Given the description of an element on the screen output the (x, y) to click on. 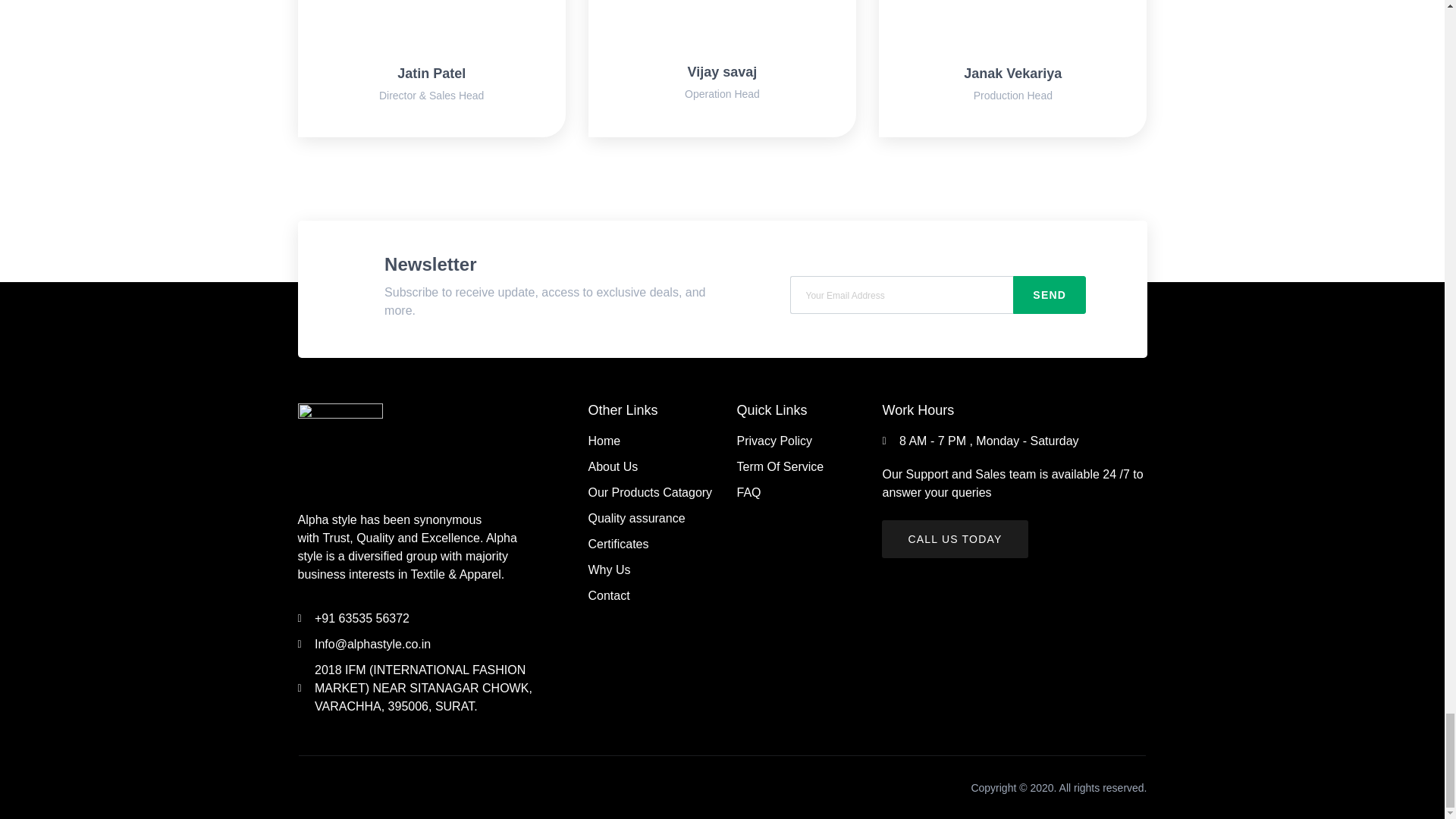
CALL US TODAY (954, 538)
Home (654, 441)
Term Of Service (790, 466)
Quality assurance (654, 518)
Privacy Policy (790, 441)
SEND (1049, 294)
Our Products Catagory (654, 493)
Certificates (654, 544)
Why Us (654, 570)
Contact (654, 596)
About Us (654, 466)
FAQ (790, 493)
